Given the description of an element on the screen output the (x, y) to click on. 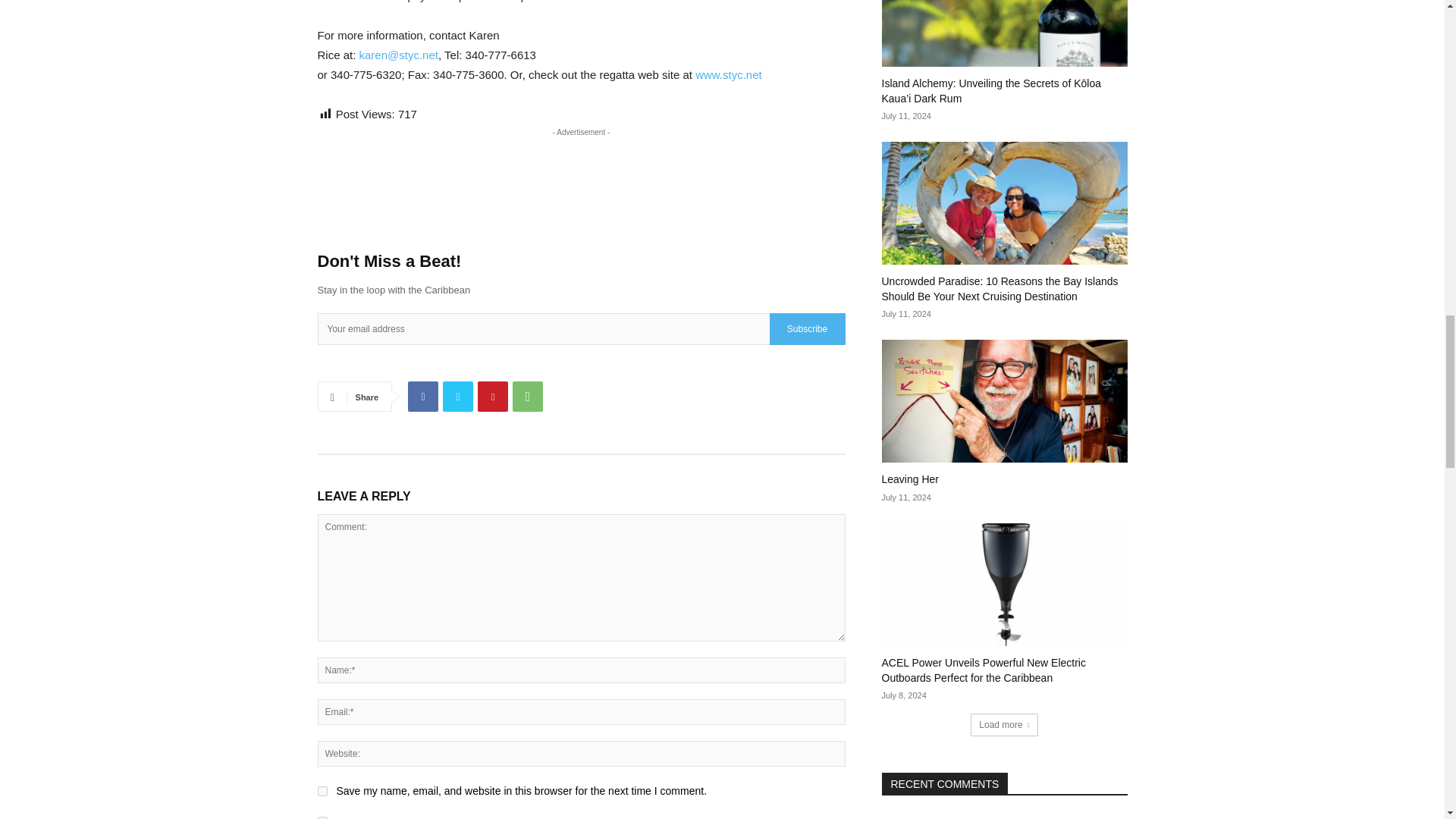
yes (321, 791)
